Given the description of an element on the screen output the (x, y) to click on. 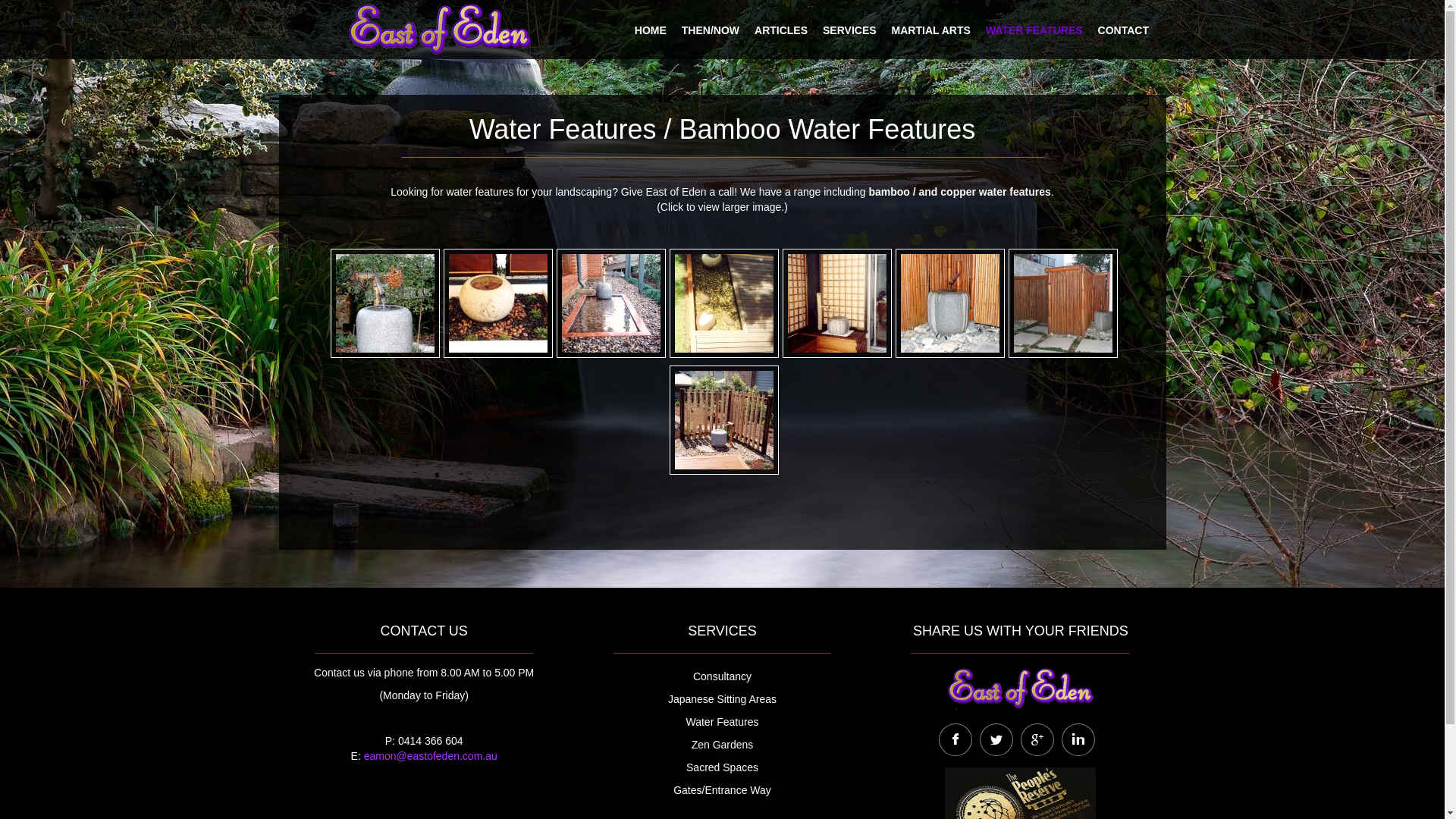
Water Features Element type: text (722, 721)
Sacred Spaces Element type: text (722, 767)
Gates/Entrance Way Element type: text (722, 789)
Zen Gardens Element type: text (722, 744)
  Element type: hover (610, 303)
  Element type: hover (949, 303)
THEN/NOW Element type: text (710, 27)
  Element type: hover (723, 303)
  Element type: hover (836, 303)
ARTICLES Element type: text (780, 27)
  Element type: hover (497, 303)
WATER FEATURES Element type: text (1033, 27)
  Element type: hover (723, 419)
CONTACT Element type: text (1123, 27)
eamon@eastofeden.com.au Element type: text (430, 755)
HOME Element type: text (650, 27)
  Element type: hover (1062, 303)
Consultancy Element type: text (722, 676)
  Element type: hover (384, 303)
SERVICES Element type: text (849, 27)
MARTIAL ARTS Element type: text (930, 27)
Japanese Sitting Areas Element type: text (722, 698)
